Given the description of an element on the screen output the (x, y) to click on. 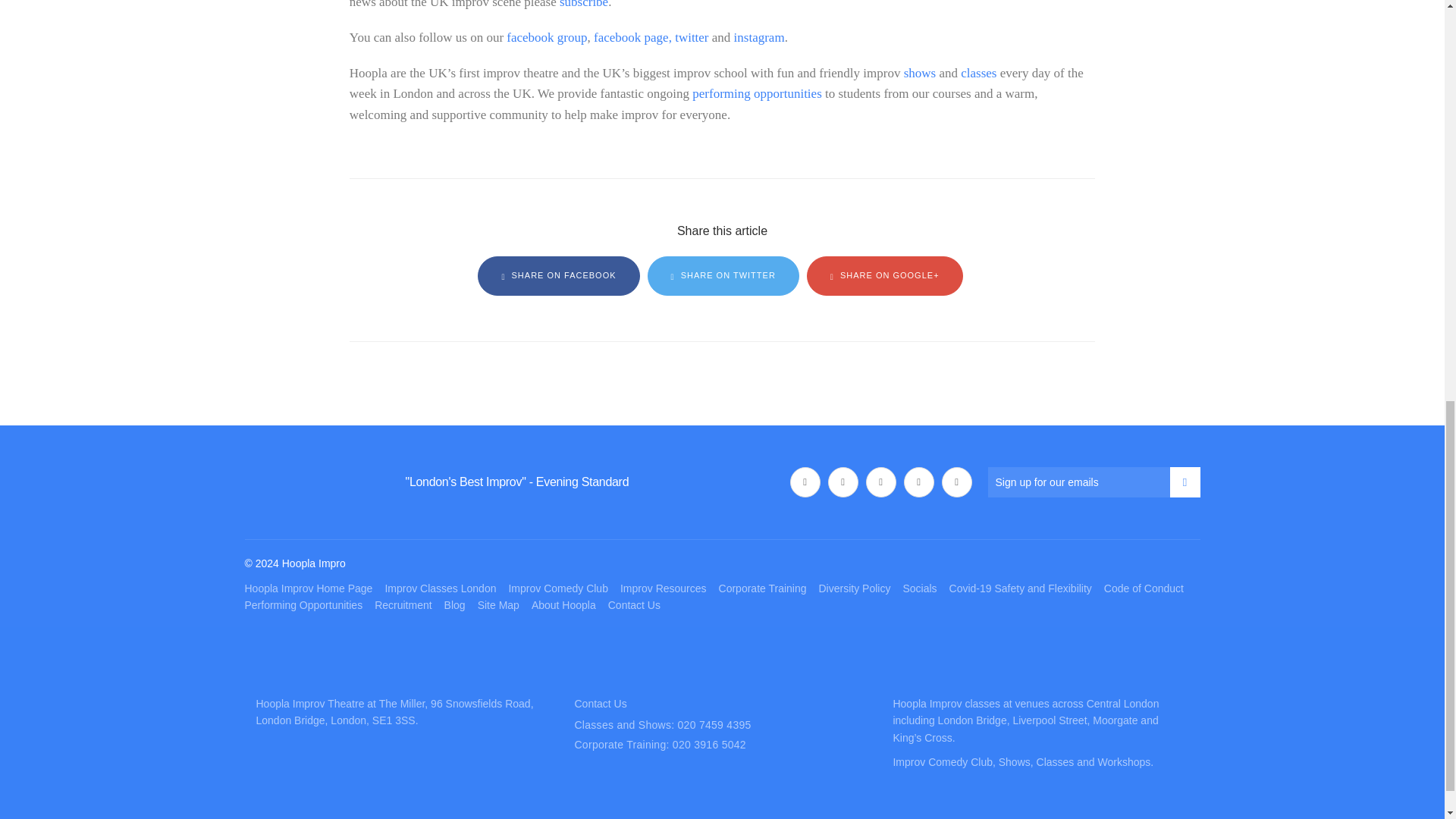
Performing Opportunities (303, 604)
Hoopla Impro (293, 481)
"London's Best Improv" - Evening Standard (516, 481)
Site Map (498, 604)
Hoopla Improv Home Page (308, 588)
Improv Comedy Club (558, 588)
classes (977, 73)
Blog (454, 604)
Contact Us (634, 604)
Improv Resources (663, 588)
facebook page, (632, 37)
Covid-19 Safety and Flexibility (1020, 588)
performing opportunities (757, 93)
SHARE ON TWITTER (723, 275)
Recruitment (402, 604)
